Given the description of an element on the screen output the (x, y) to click on. 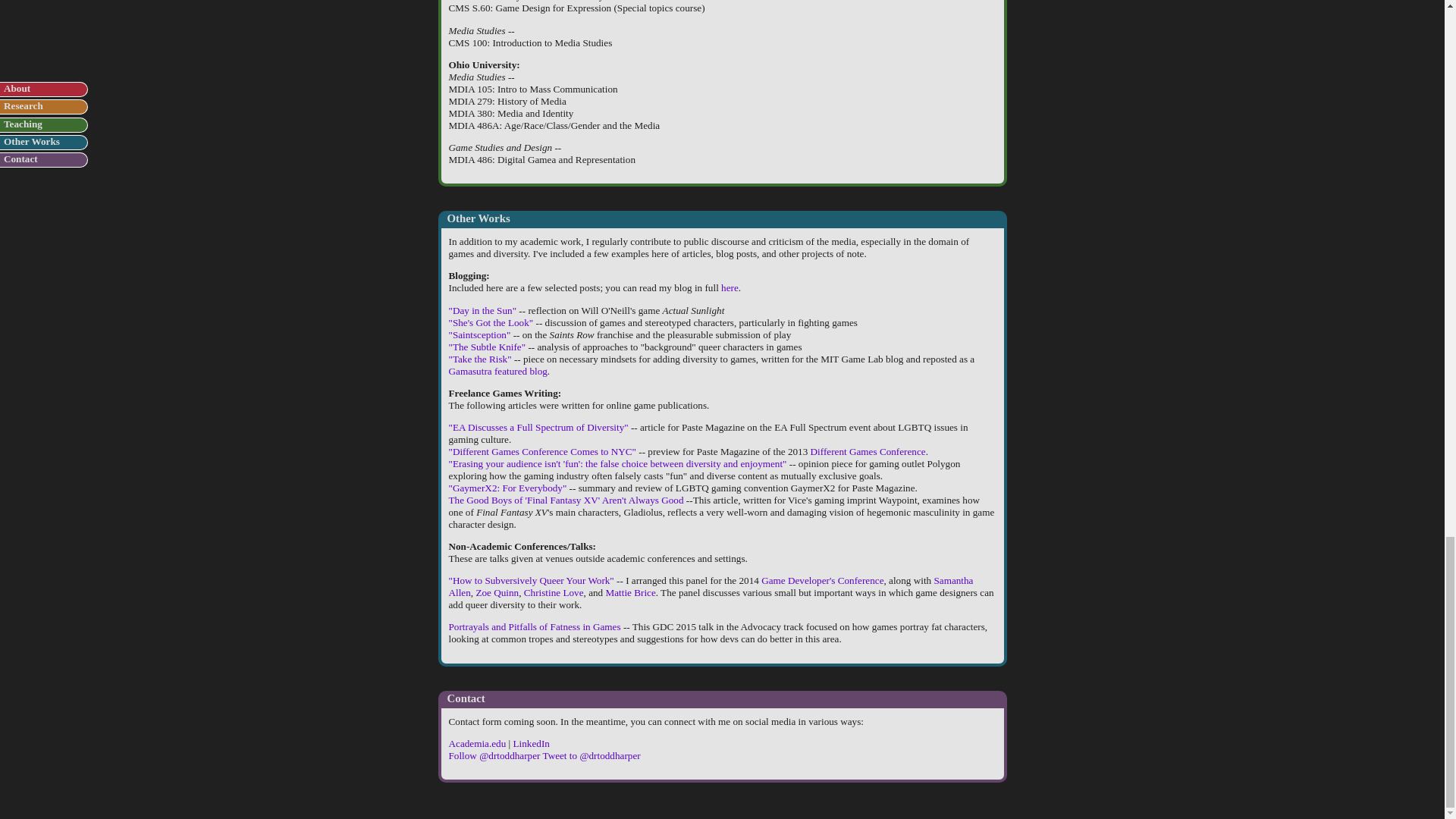
Different Games Conference (868, 451)
"Day in the Sun" (482, 309)
Gamasutra featured blog (497, 369)
"Take the Risk" (480, 357)
"Different Games Conference Comes to NYC" (542, 451)
"Saintsception" (479, 333)
"She's Got the Look" (491, 321)
"The Subtle Knife" (486, 346)
"EA Discusses a Full Spectrum of Diversity" (538, 427)
here (729, 287)
